Given the description of an element on the screen output the (x, y) to click on. 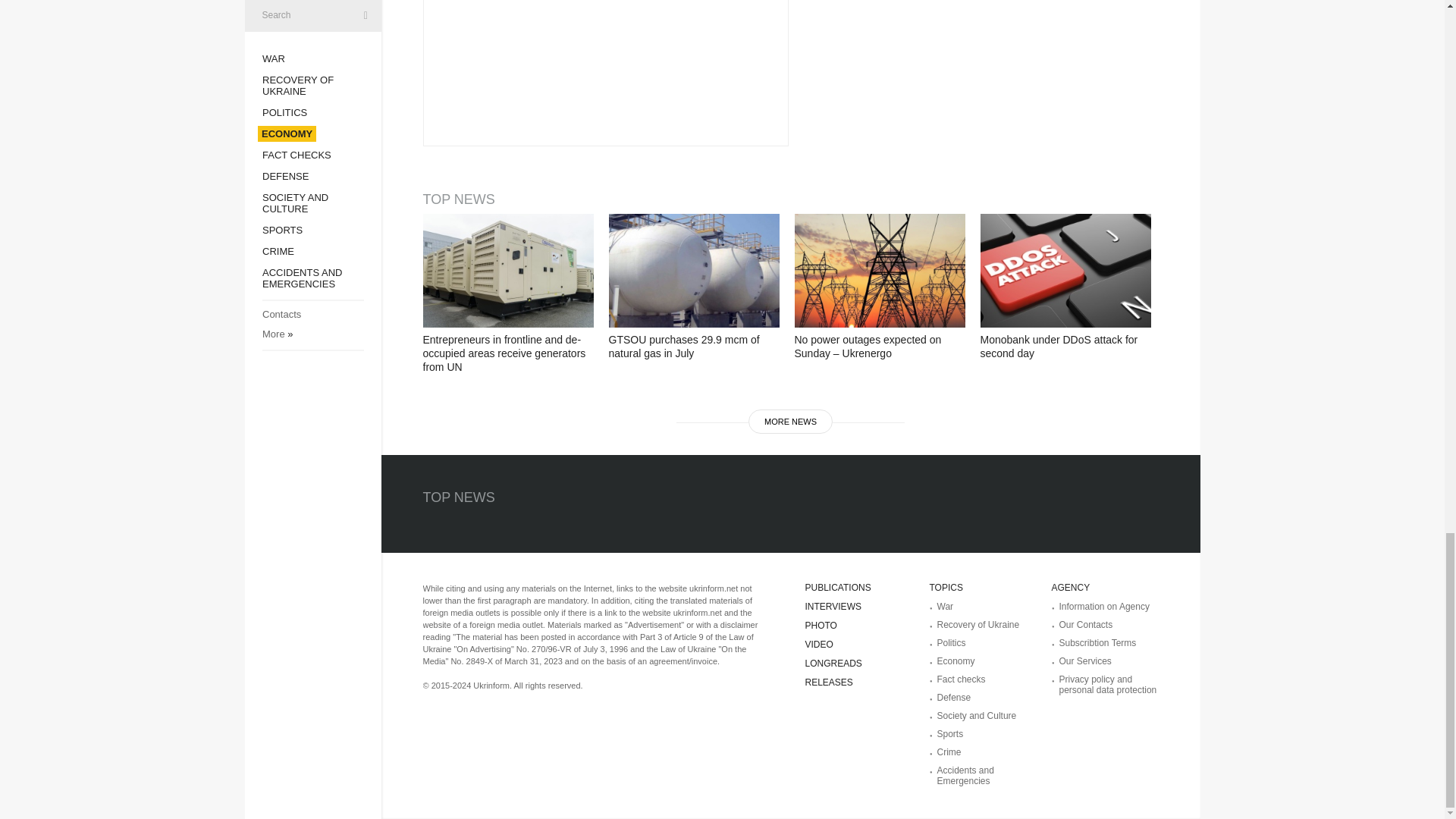
Monobank under DDoS attack for second day (1064, 270)
GTSOU purchases 29.9 mcm of natural gas in July (693, 270)
